Given the description of an element on the screen output the (x, y) to click on. 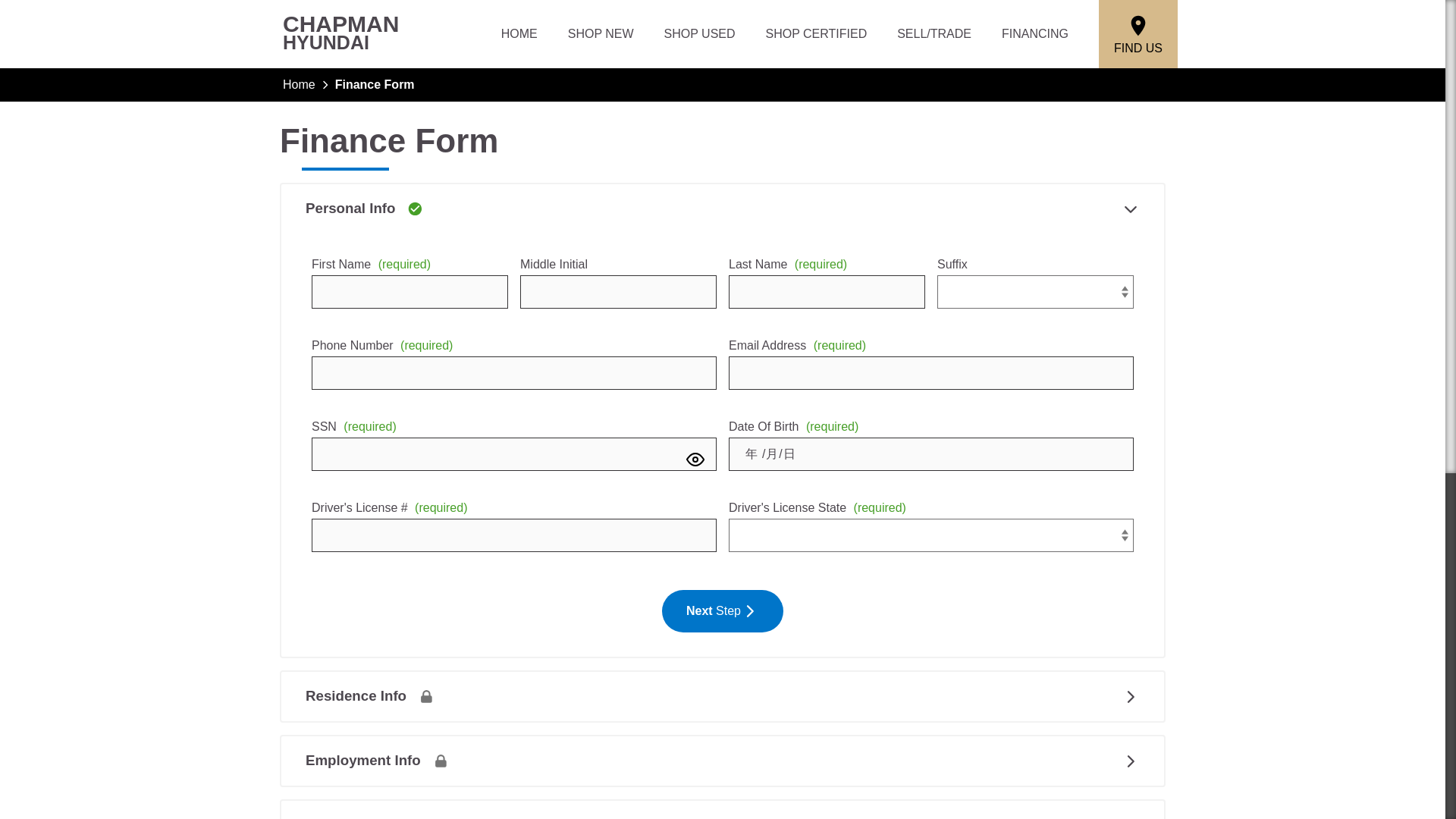
Next Step (722, 610)
FINANCING (1035, 33)
SHOP USED (700, 33)
Residence Info (341, 34)
SHOP NEW (722, 696)
FIND US (601, 33)
SHOP CERTIFIED (1138, 33)
HOME (816, 33)
Employment Info (519, 33)
